Given the description of an element on the screen output the (x, y) to click on. 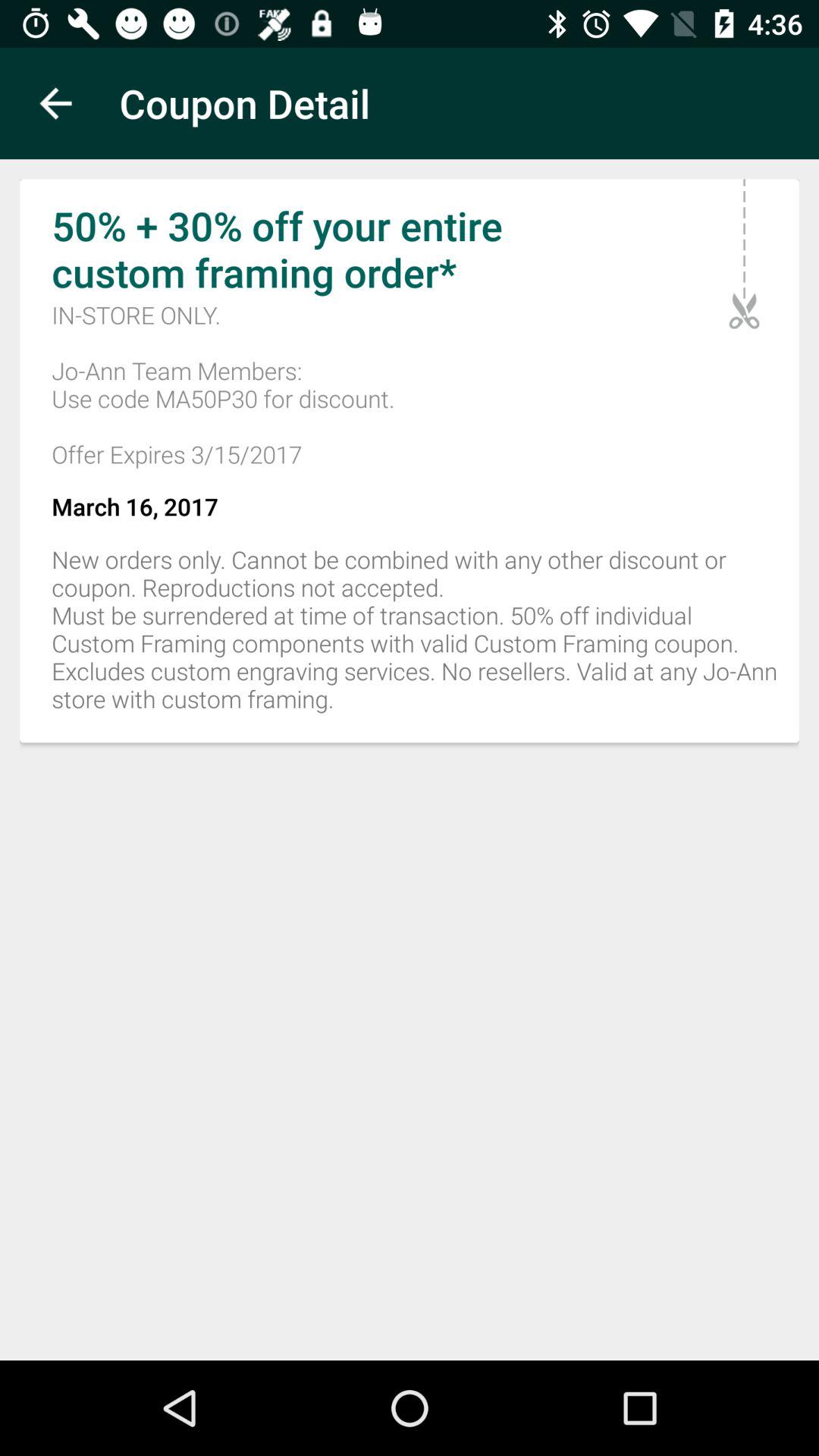
press item to the left of coupon detail app (55, 103)
